Given the description of an element on the screen output the (x, y) to click on. 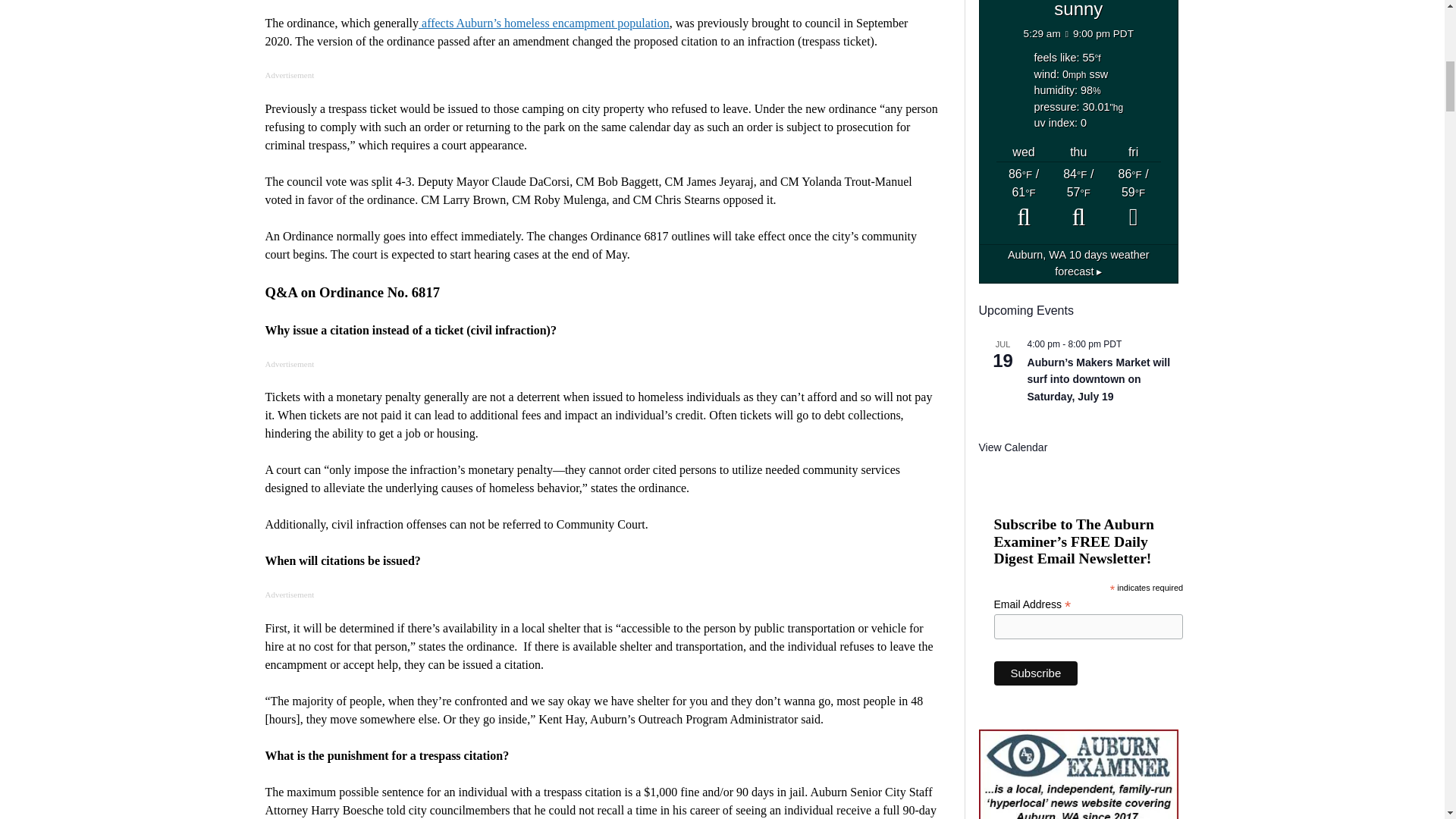
Subscribe (1036, 672)
